Given the description of an element on the screen output the (x, y) to click on. 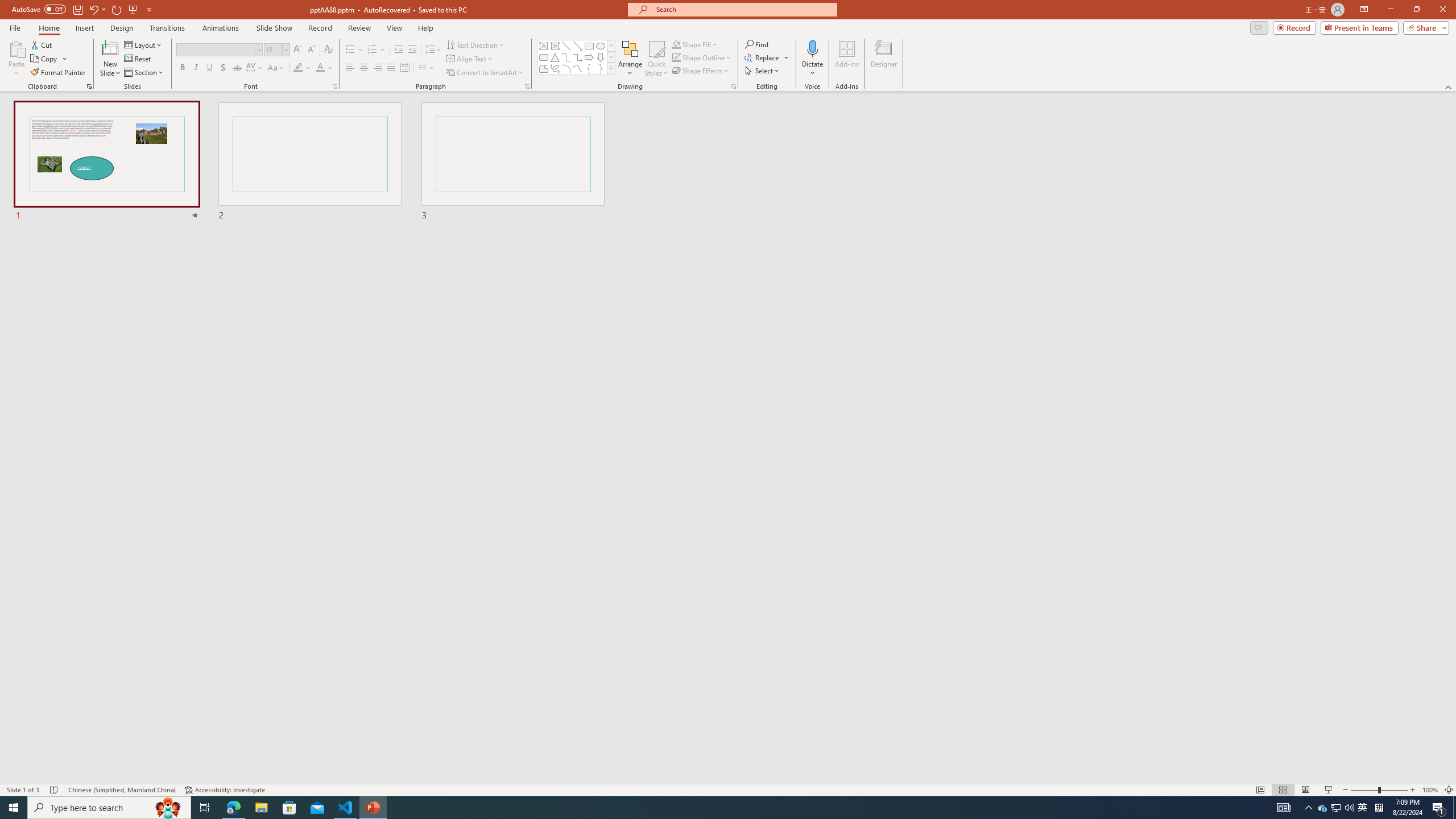
Section (144, 72)
Arrange (630, 58)
Convert to SmartArt (485, 72)
Shape Fill Aqua, Accent 2 (675, 44)
Text Direction (476, 44)
Align Left (349, 67)
Zoom 100% (1430, 790)
